Given the description of an element on the screen output the (x, y) to click on. 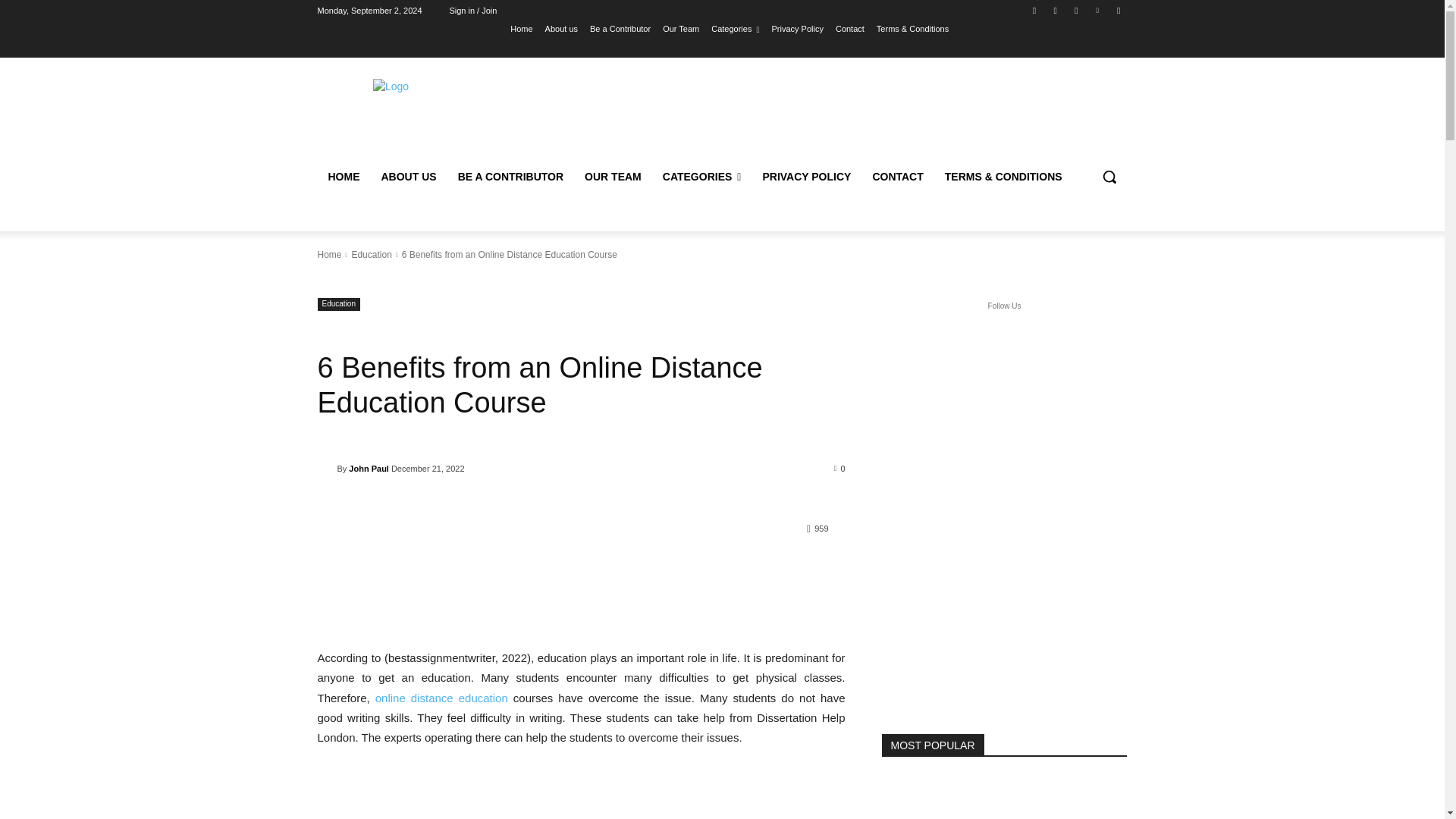
Be a Contributor (619, 28)
Home (521, 28)
Contact (849, 28)
Youtube (1117, 9)
Twitter (1075, 9)
About us (561, 28)
John Paul (326, 468)
Vimeo (1097, 9)
Facebook (1034, 9)
Privacy Policy (796, 28)
